Given the description of an element on the screen output the (x, y) to click on. 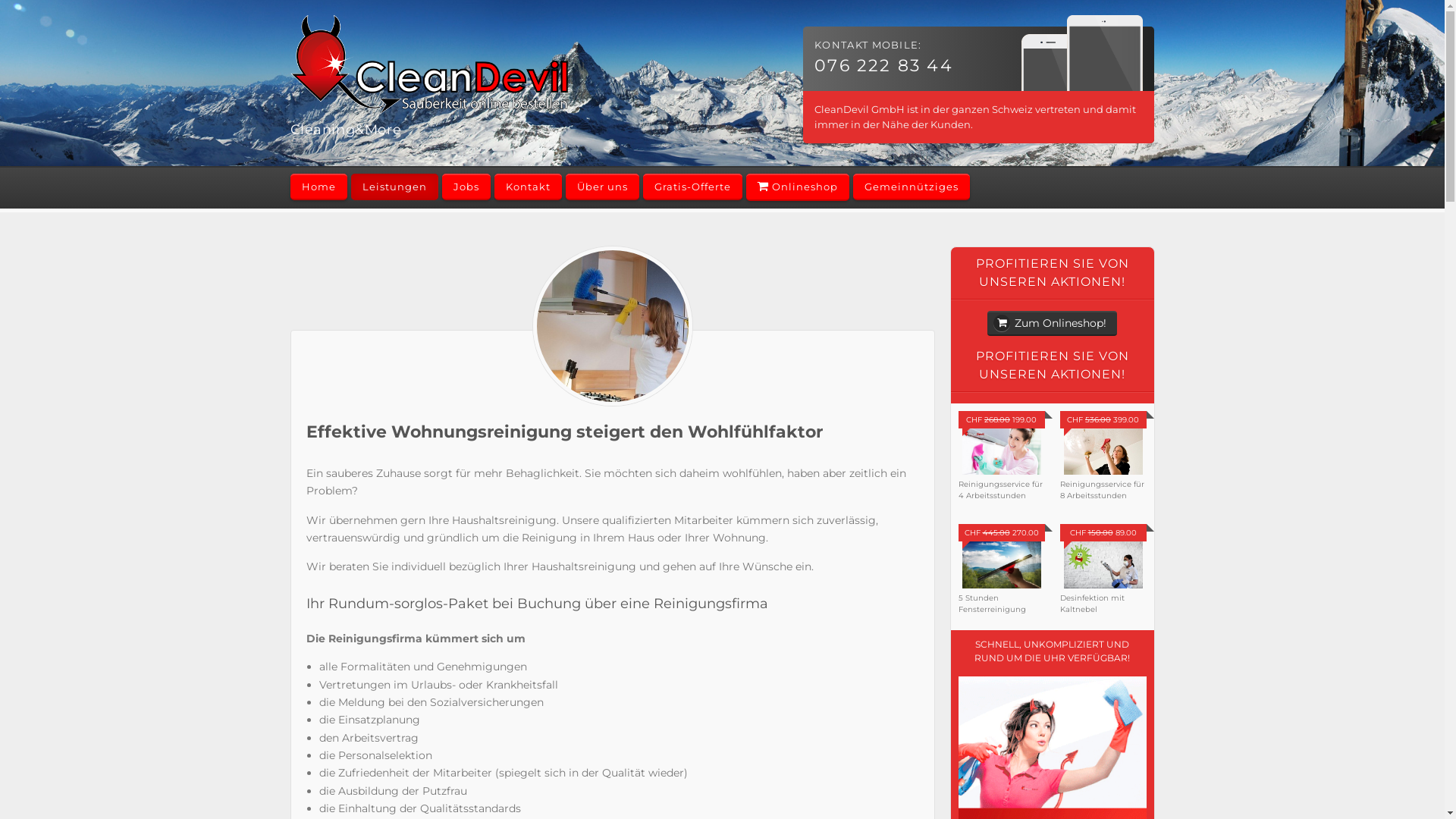
Gratis-Offerte Element type: text (692, 186)
Zum Onlineshop! Element type: text (1052, 322)
Kontakt Element type: text (527, 186)
Cleaning&More Element type: text (428, 120)
076 222 83 44 Element type: text (883, 65)
Onlineshop Element type: text (797, 186)
CHF 445.00 270.00
5 Stunden Fensterreinigung Element type: text (1001, 575)
Leistungen Element type: text (393, 186)
Jobs Element type: text (465, 186)
CHF 150.00 89.00
Desinfektion mit Kaltnebel Element type: text (1103, 575)
Home Element type: text (317, 186)
